Given the description of an element on the screen output the (x, y) to click on. 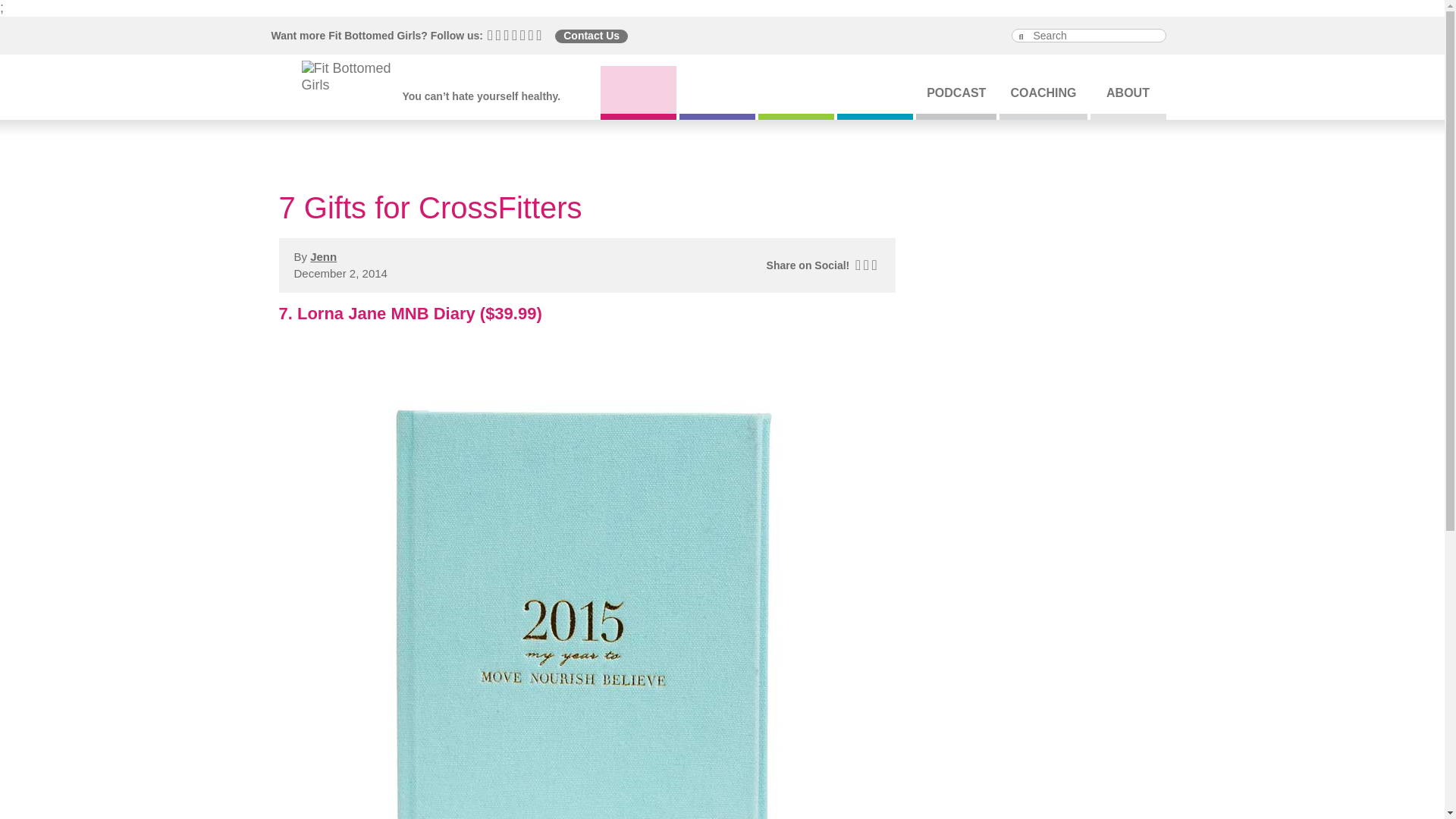
Posts by Jenn (323, 256)
Contact Us (590, 36)
